Given the description of an element on the screen output the (x, y) to click on. 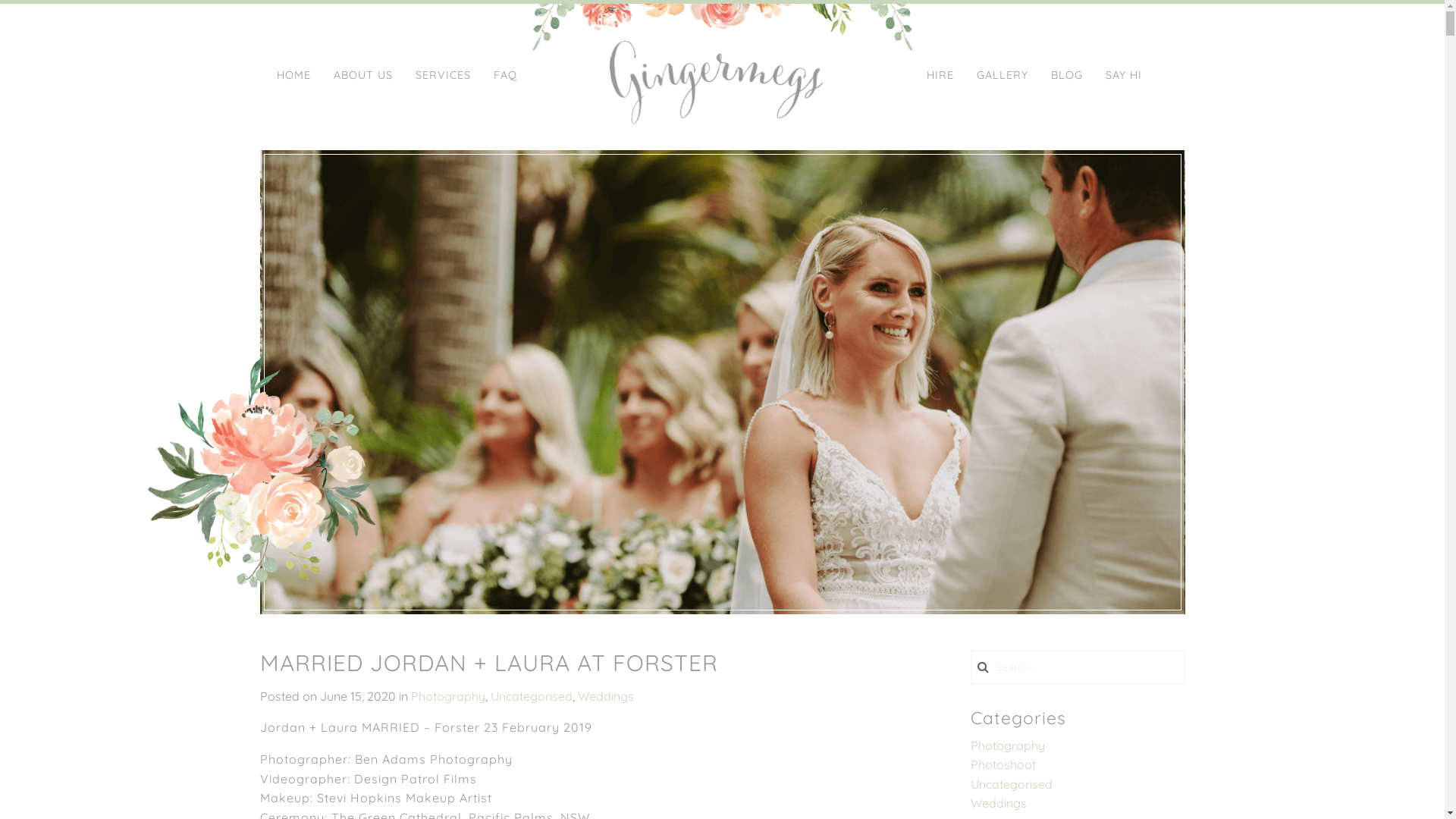
FAQ Element type: text (505, 75)
Photoshoot Element type: text (1002, 763)
BLOG Element type: text (1066, 75)
Search for: Element type: hover (1089, 667)
ABOUT US Element type: text (362, 75)
GALLERY Element type: text (1002, 75)
Weddings Element type: text (605, 695)
SAY HI Element type: text (1123, 75)
Uncategorised Element type: text (530, 695)
HIRE Element type: text (939, 75)
SERVICES Element type: text (442, 75)
HOME Element type: text (293, 75)
Photography Element type: text (448, 695)
Photography Element type: text (1007, 744)
Gingermegs Element type: hover (716, 82)
Weddings Element type: text (998, 802)
Uncategorised Element type: text (1011, 783)
